Given the description of an element on the screen output the (x, y) to click on. 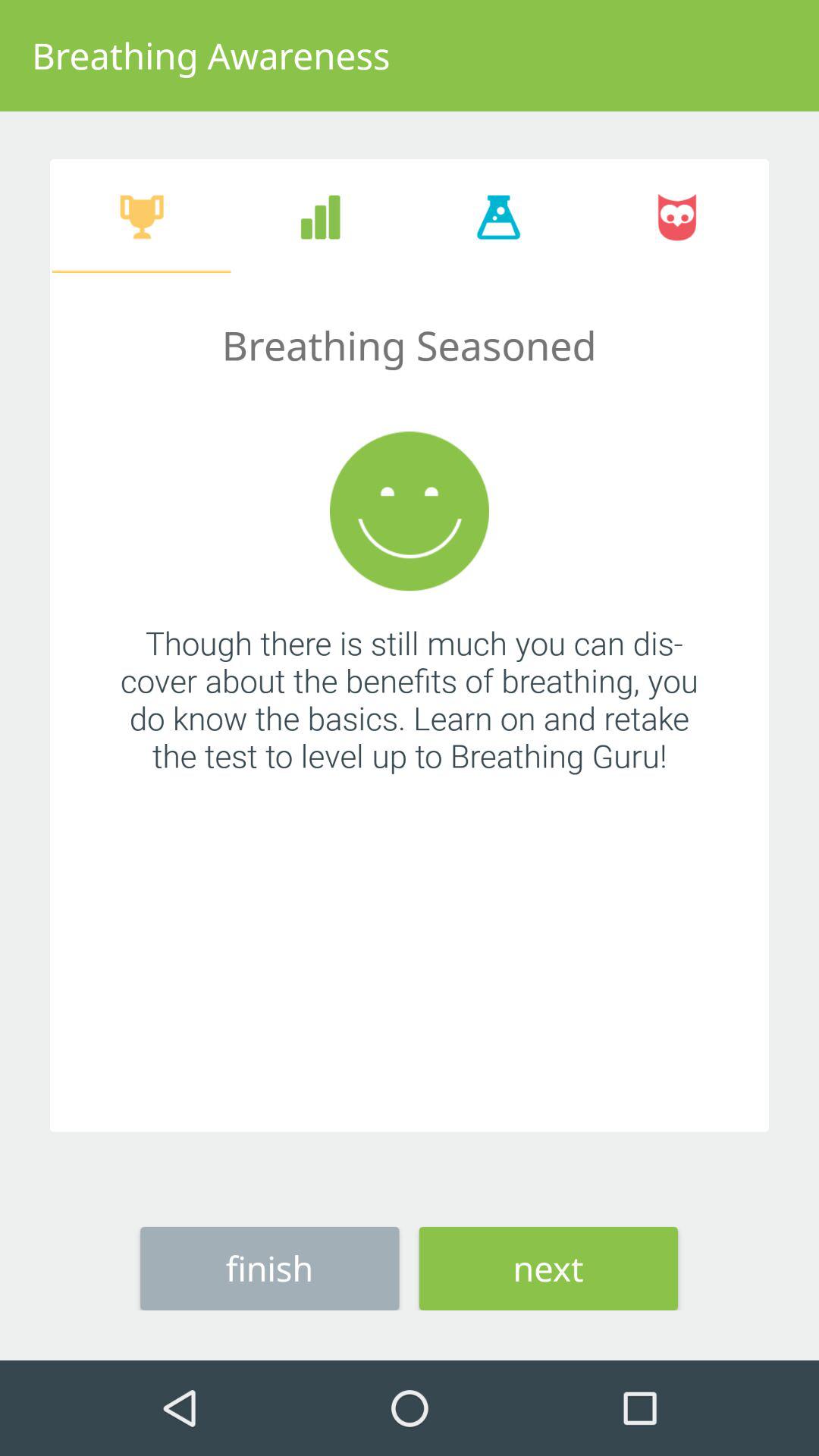
select the icon next to the next (269, 1268)
